Given the description of an element on the screen output the (x, y) to click on. 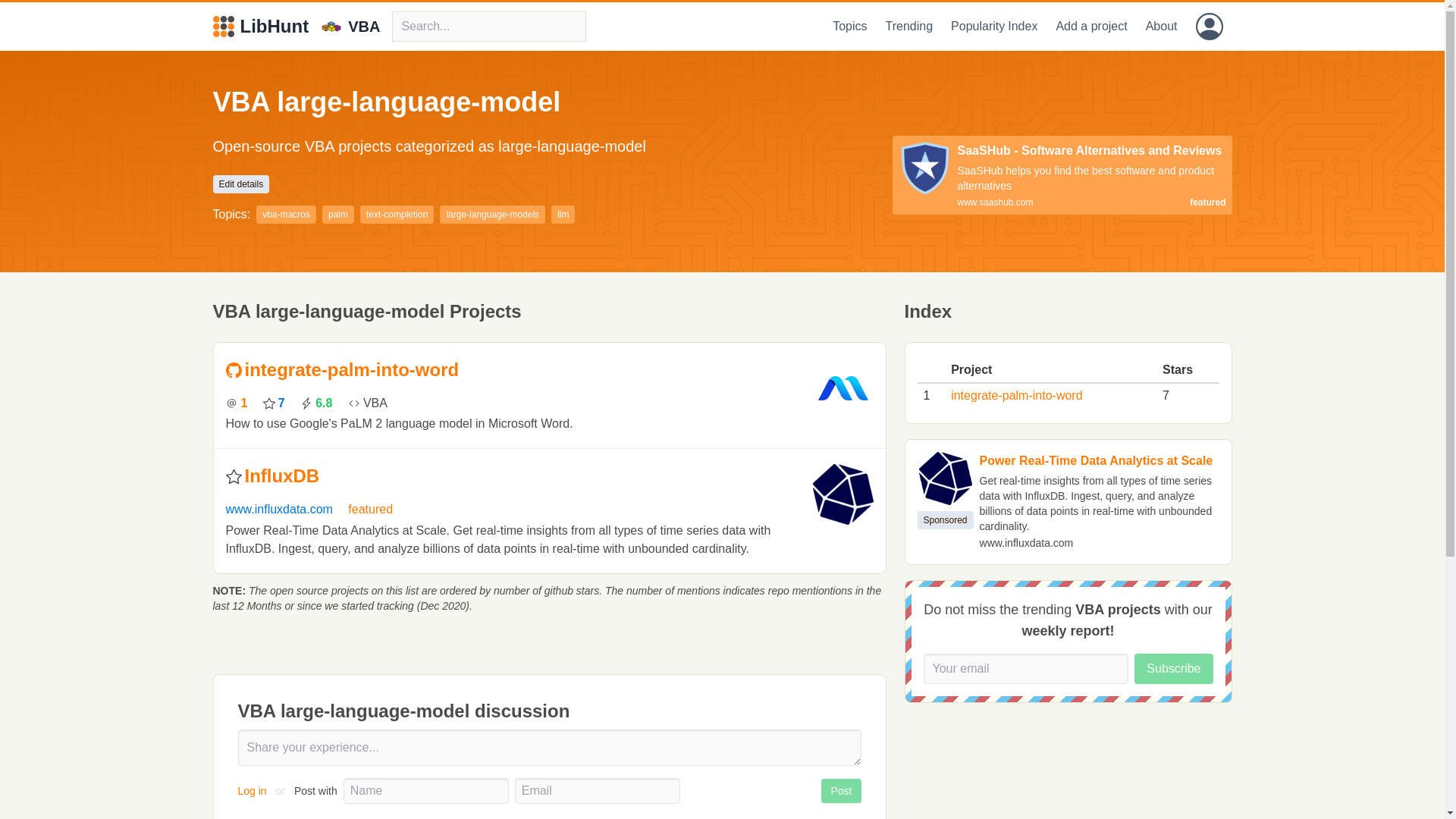
Edit details (240, 184)
integrate-palm-into-word Alternatives (351, 369)
llm (563, 214)
Search (488, 26)
Topics (850, 26)
Add a project (1090, 26)
Log in (253, 790)
Subscribe (1173, 668)
Post (840, 790)
integrate-palm-into-word (1015, 395)
Log in (1208, 26)
www.saashub.com (994, 202)
SaaSHub Logo (924, 167)
Primary Programming Language (367, 402)
About (1161, 26)
